Given the description of an element on the screen output the (x, y) to click on. 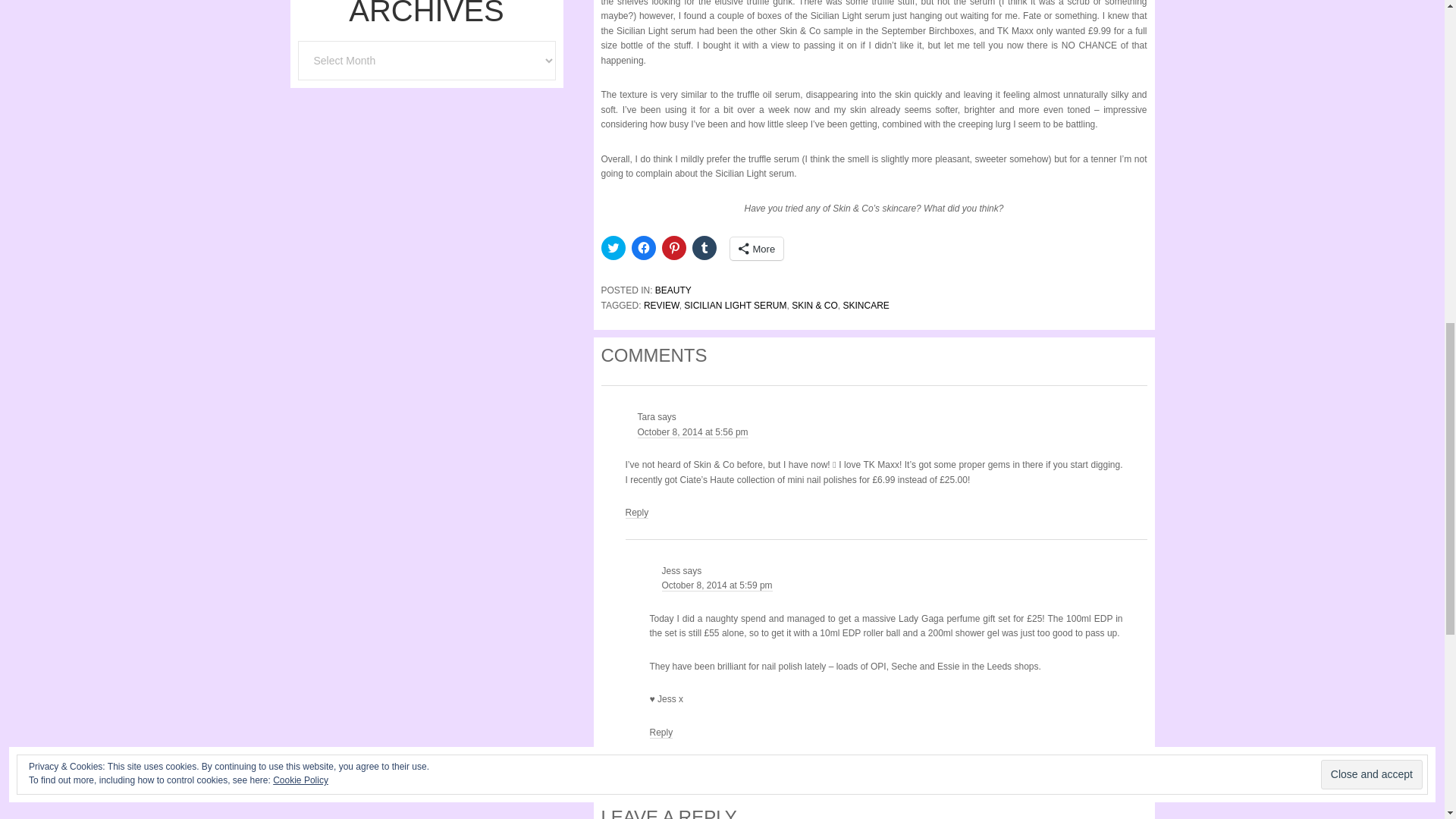
BEAUTY (673, 290)
October 8, 2014 at 5:56 pm (692, 432)
SKINCARE (865, 305)
Click to share on Twitter (611, 247)
Reply (635, 512)
Click to share on Tumblr (703, 247)
October 8, 2014 at 5:59 pm (716, 585)
Reply (660, 732)
Click to share on Pinterest (673, 247)
More (756, 248)
Click to share on Facebook (642, 247)
SICILIAN LIGHT SERUM (735, 305)
REVIEW (661, 305)
